Given the description of an element on the screen output the (x, y) to click on. 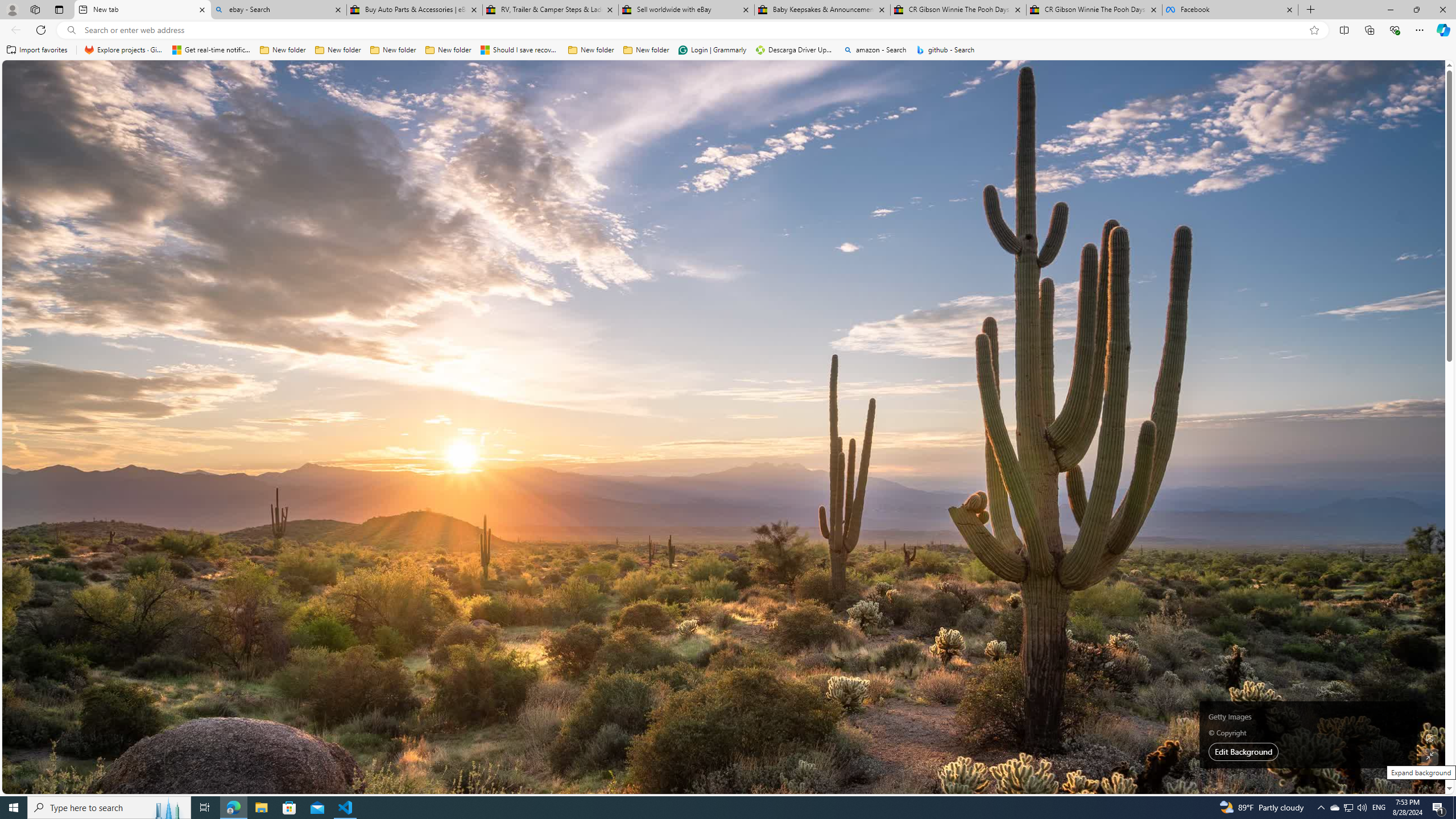
Enter your search term (726, 78)
AutomationID: tab-20 (449, 328)
Favorites bar (728, 49)
12 Like (301, 685)
Descarga Driver Updater (794, 49)
Traffic Title Traffic Light (1005, 718)
